Given the description of an element on the screen output the (x, y) to click on. 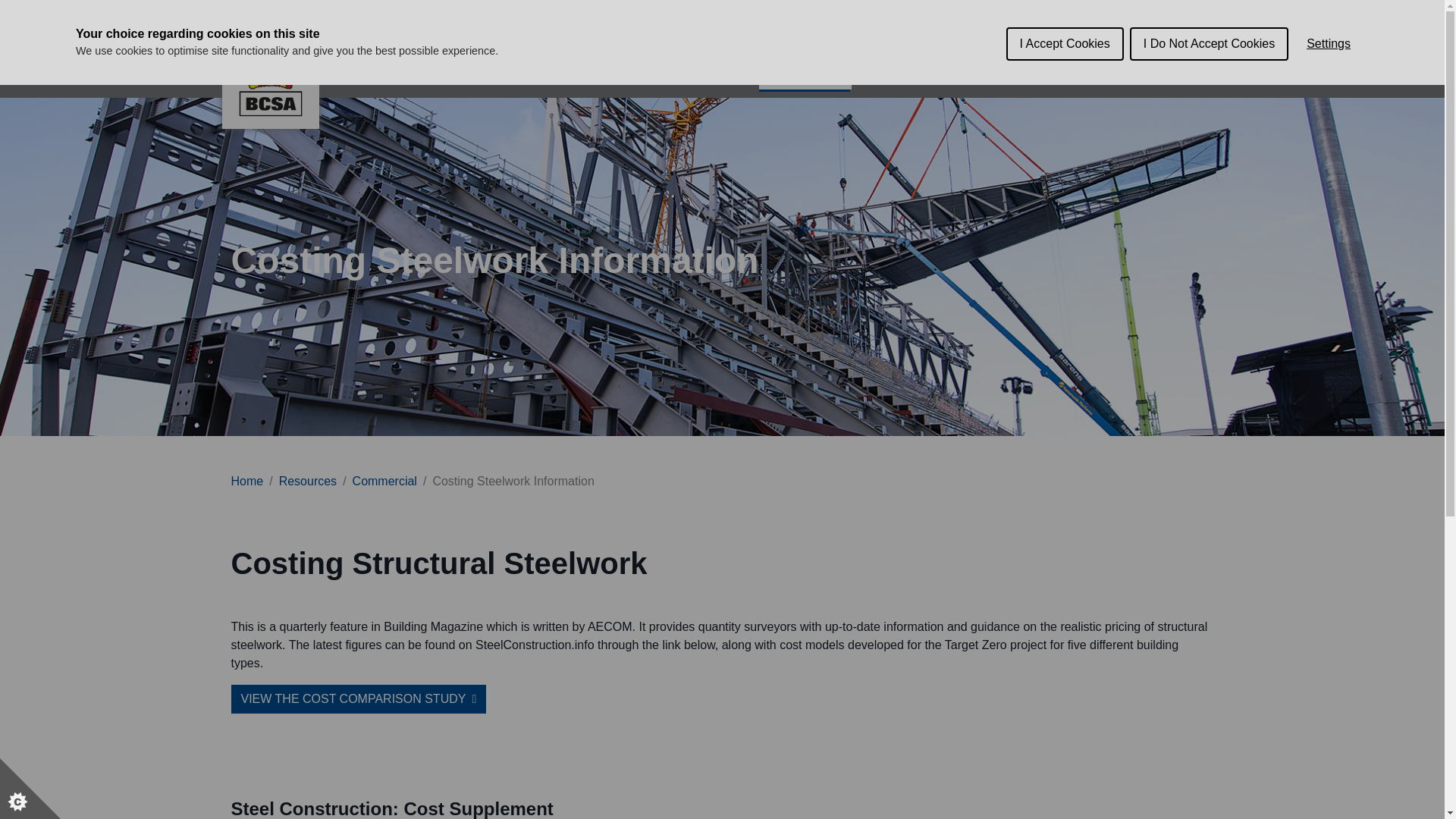
I Do Not Accept Cookies (1208, 9)
LOGIN (894, 26)
BCSA Membership (690, 74)
Settings (1328, 11)
Member Directories (551, 74)
About Us (437, 74)
JOIN BCSA (809, 26)
Search (1197, 74)
